Given the description of an element on the screen output the (x, y) to click on. 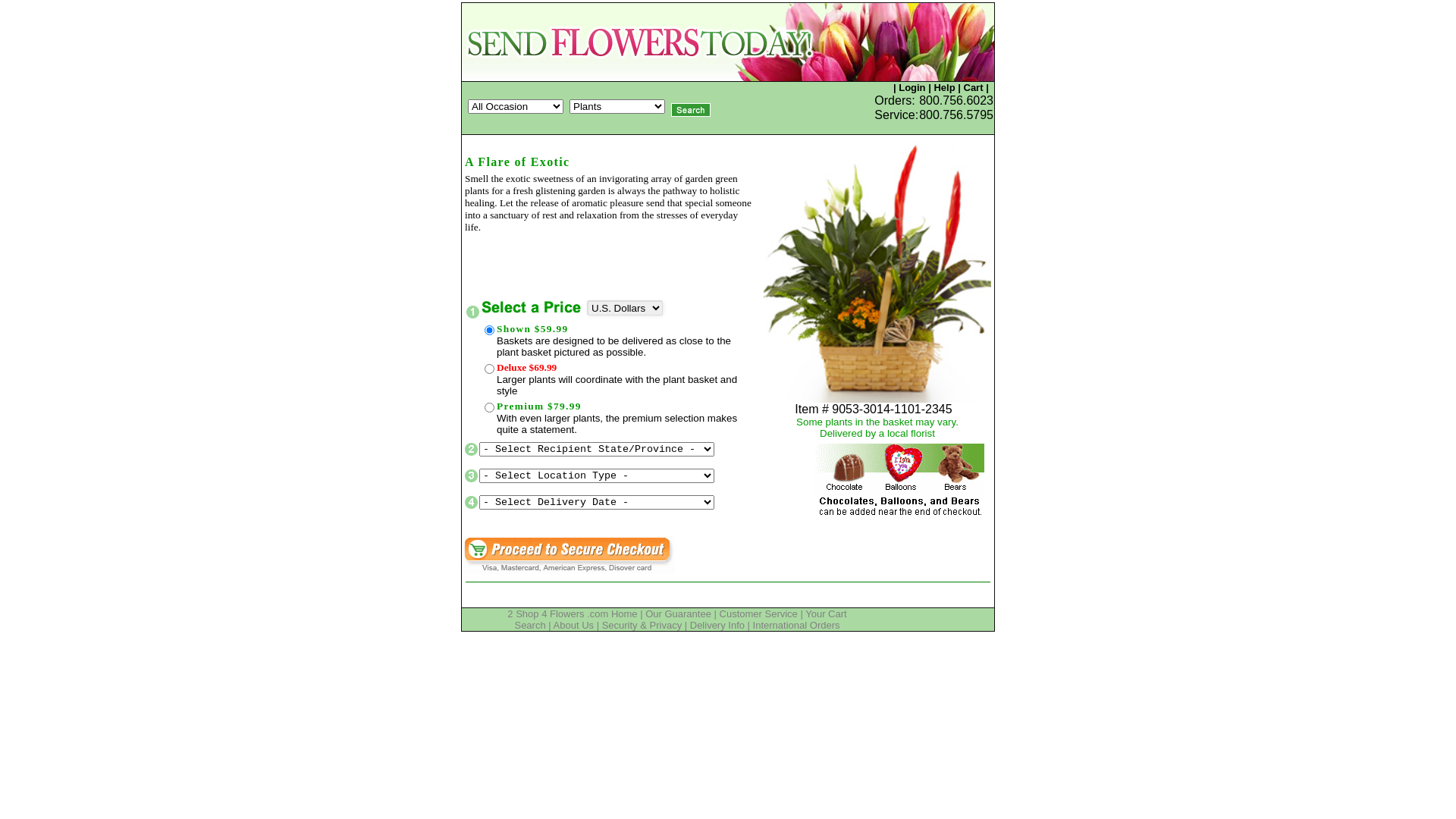
Help Element type: text (943, 87)
Customer Service Element type: text (758, 613)
Security & Privacy Element type: text (641, 624)
Cart Element type: text (972, 87)
Search Element type: text (529, 624)
International Orders Element type: text (796, 624)
Delivery Info Element type: text (717, 624)
131-9054-79.99-R Element type: text (489, 368)
Our Guarantee Element type: text (678, 613)
Your Cart Element type: text (825, 613)
2 Shop 4 Flowers .com Home Element type: text (572, 613)
About Us Element type: text (573, 624)
Login Element type: text (911, 87)
